Given the description of an element on the screen output the (x, y) to click on. 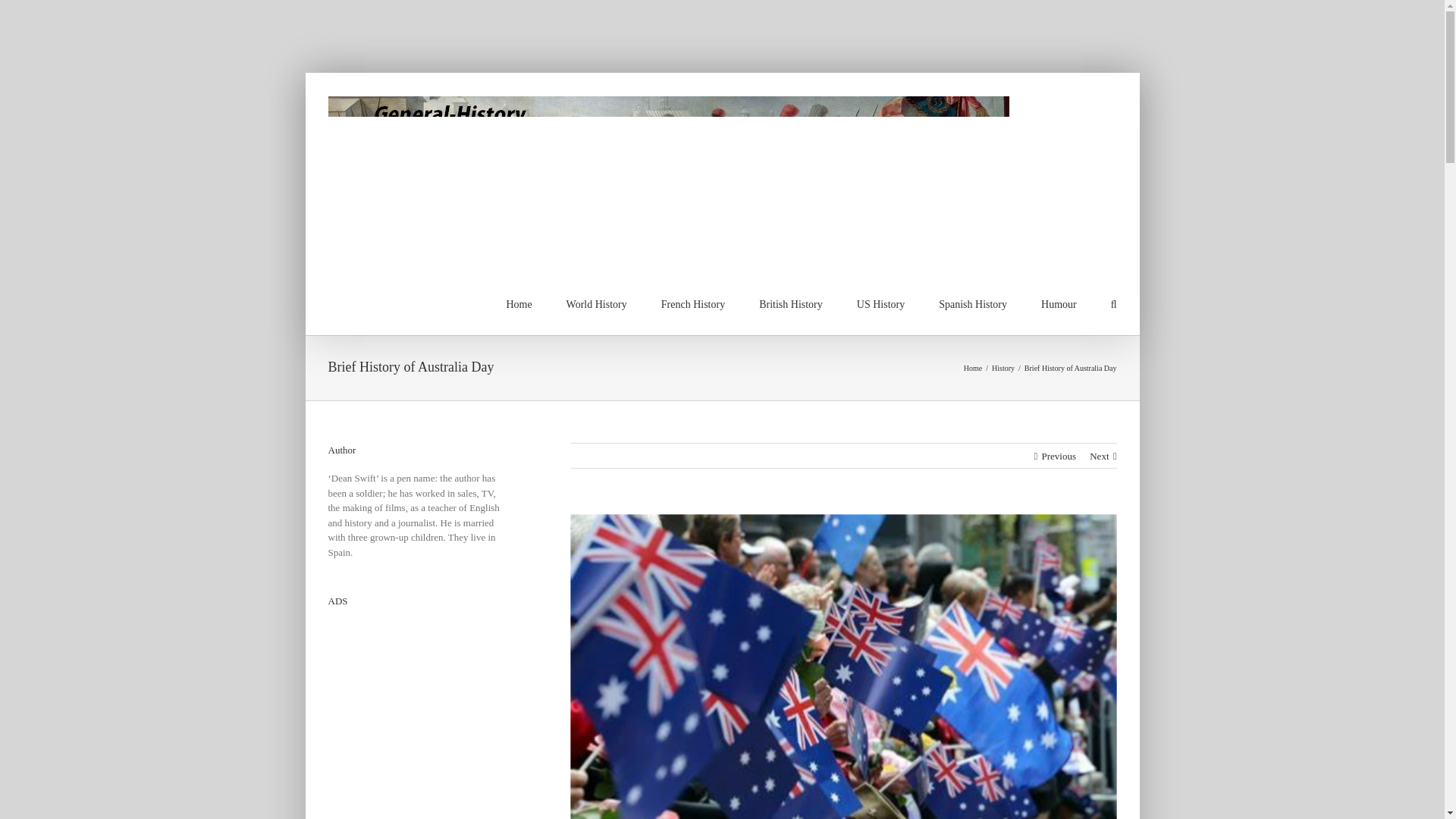
Home (972, 367)
Spanish History (973, 302)
History (1002, 367)
Previous (1058, 455)
British History (790, 302)
French History (693, 302)
World History (596, 302)
